Given the description of an element on the screen output the (x, y) to click on. 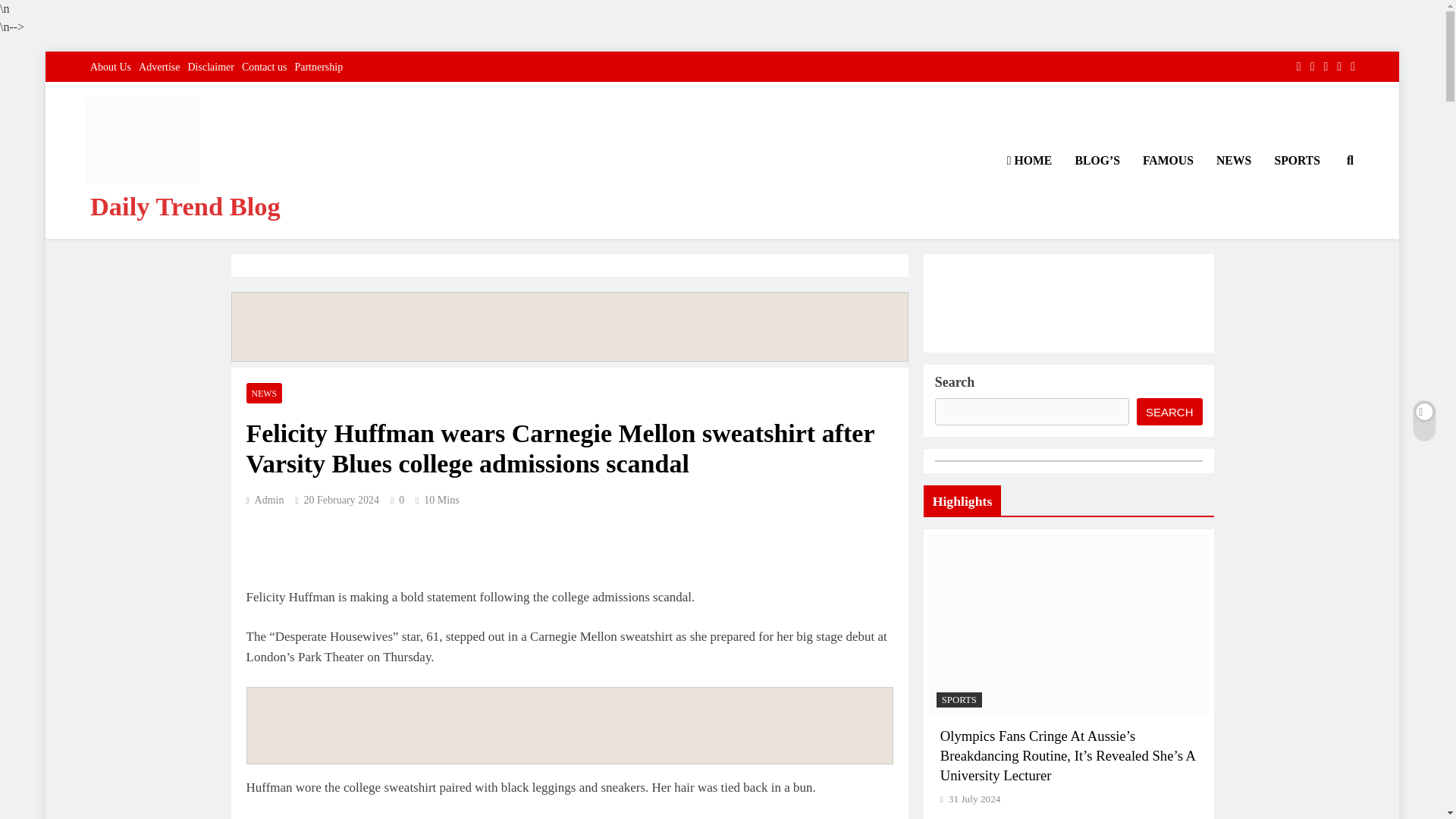
About Us (110, 66)
NEWS (264, 393)
NEWS (1233, 160)
Daily Trend Blog (185, 205)
Partnership (318, 66)
20 February 2024 (342, 500)
Admin (264, 500)
SPORTS (1297, 160)
HOME (1029, 160)
